Given the description of an element on the screen output the (x, y) to click on. 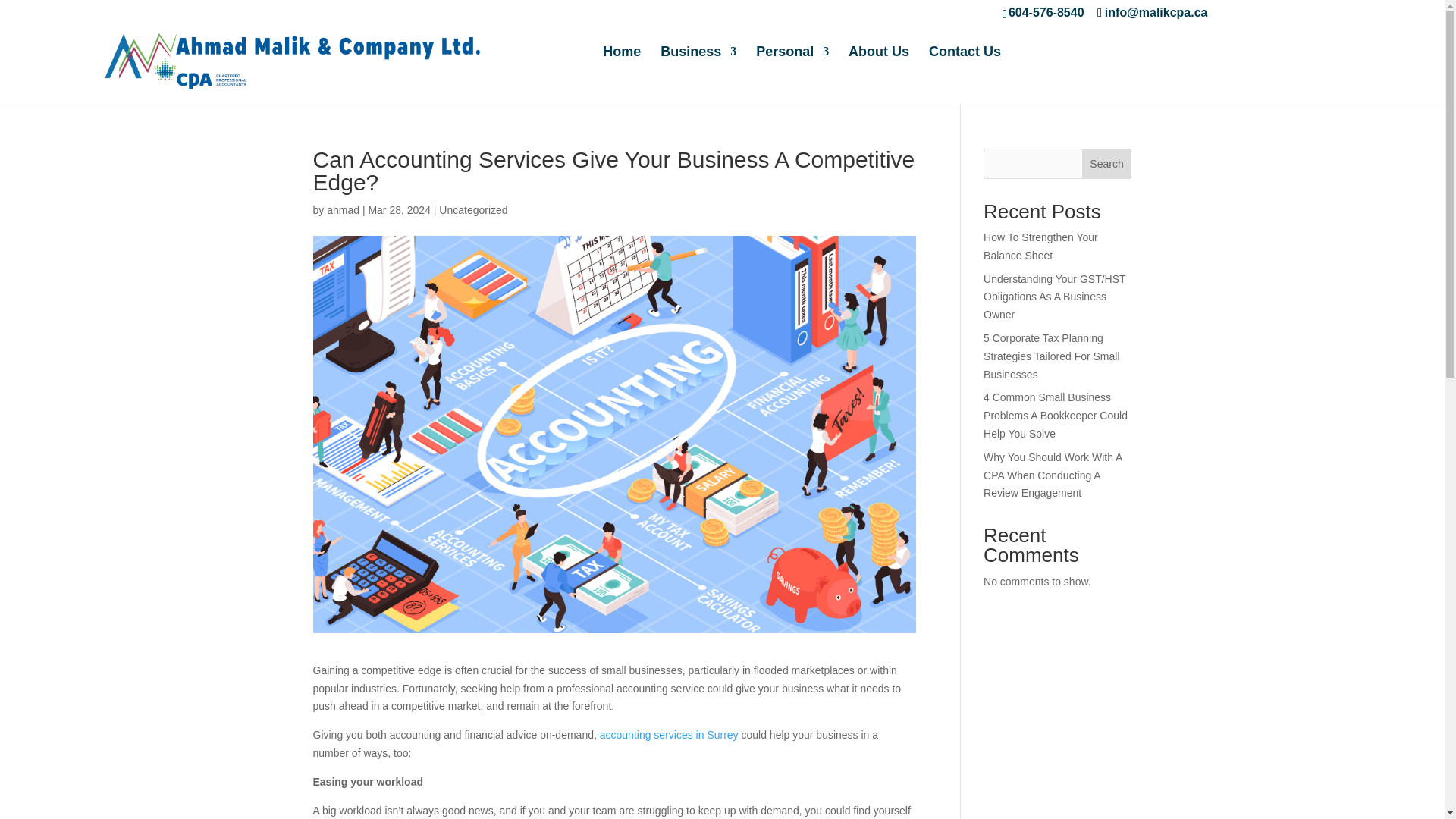
Contact Us (964, 63)
About Us (878, 63)
Posts by ahmad (342, 209)
Personal (791, 63)
Home (621, 63)
Business (698, 63)
